Given the description of an element on the screen output the (x, y) to click on. 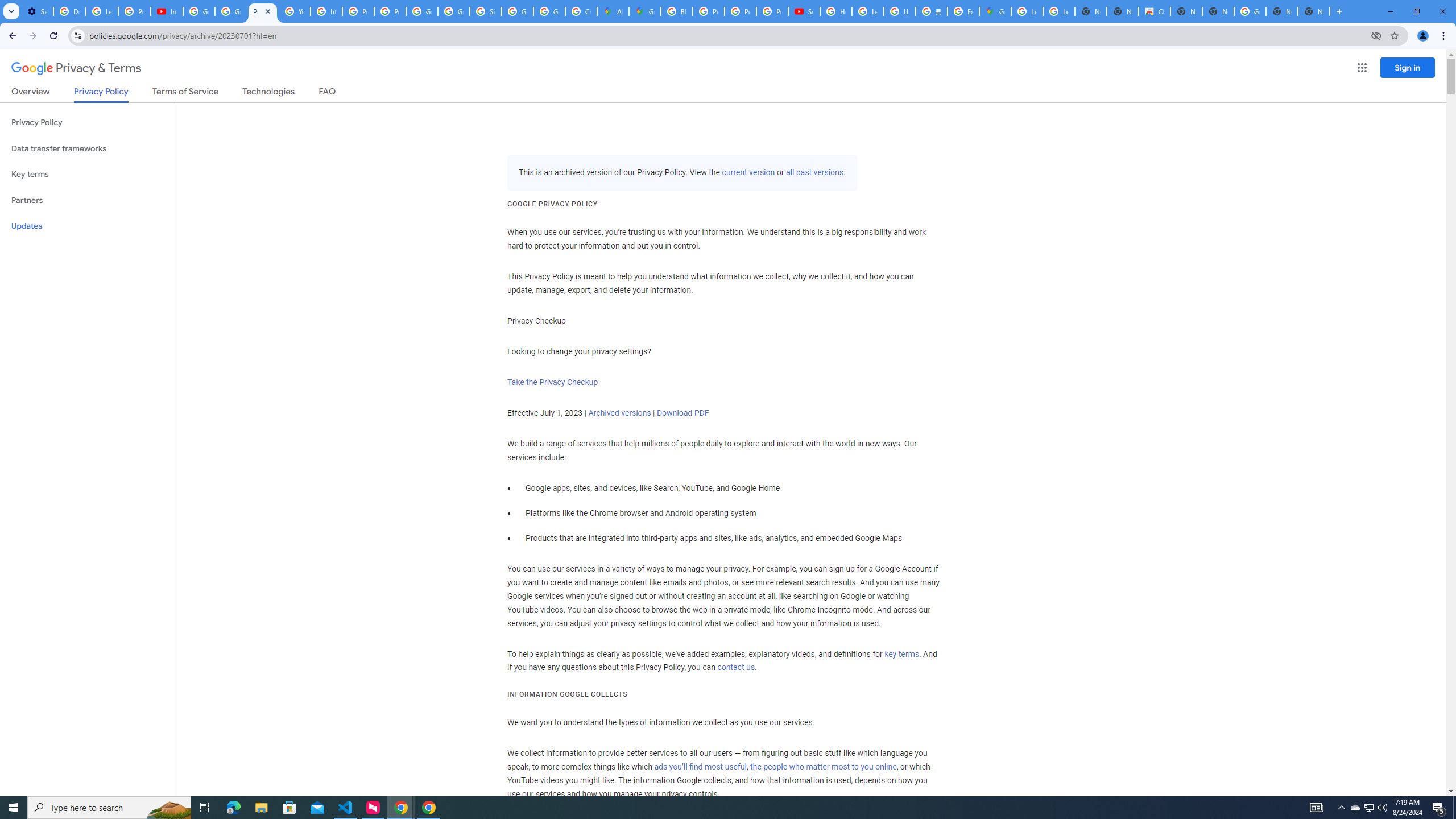
Download PDF (682, 412)
Partners (86, 199)
Subscriptions - YouTube (804, 11)
current version (748, 172)
key terms (900, 653)
all past versions (813, 172)
Learn how to find your photos - Google Photos Help (101, 11)
Key terms (86, 174)
